Given the description of an element on the screen output the (x, y) to click on. 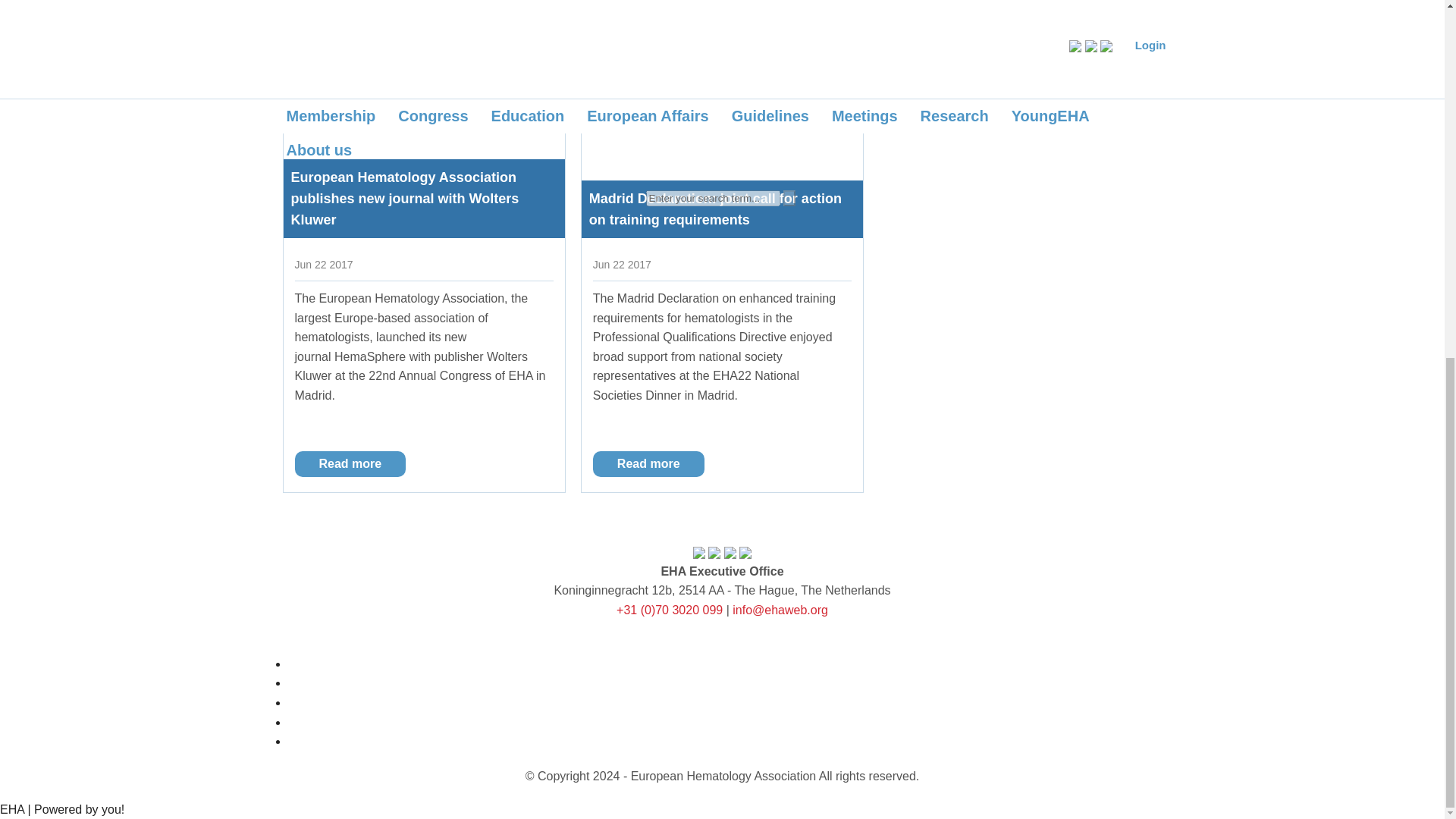
member news (330, 35)
Press releases (333, 7)
EHA's actions for Ukraine (919, 7)
Meeting reports (695, 7)
Health Data (1088, 7)
Stakeholder news and views (564, 7)
IVDR (1021, 7)
Tutorial reports (796, 7)
Advocacy news (433, 7)
EU HTA (411, 35)
